Given the description of an element on the screen output the (x, y) to click on. 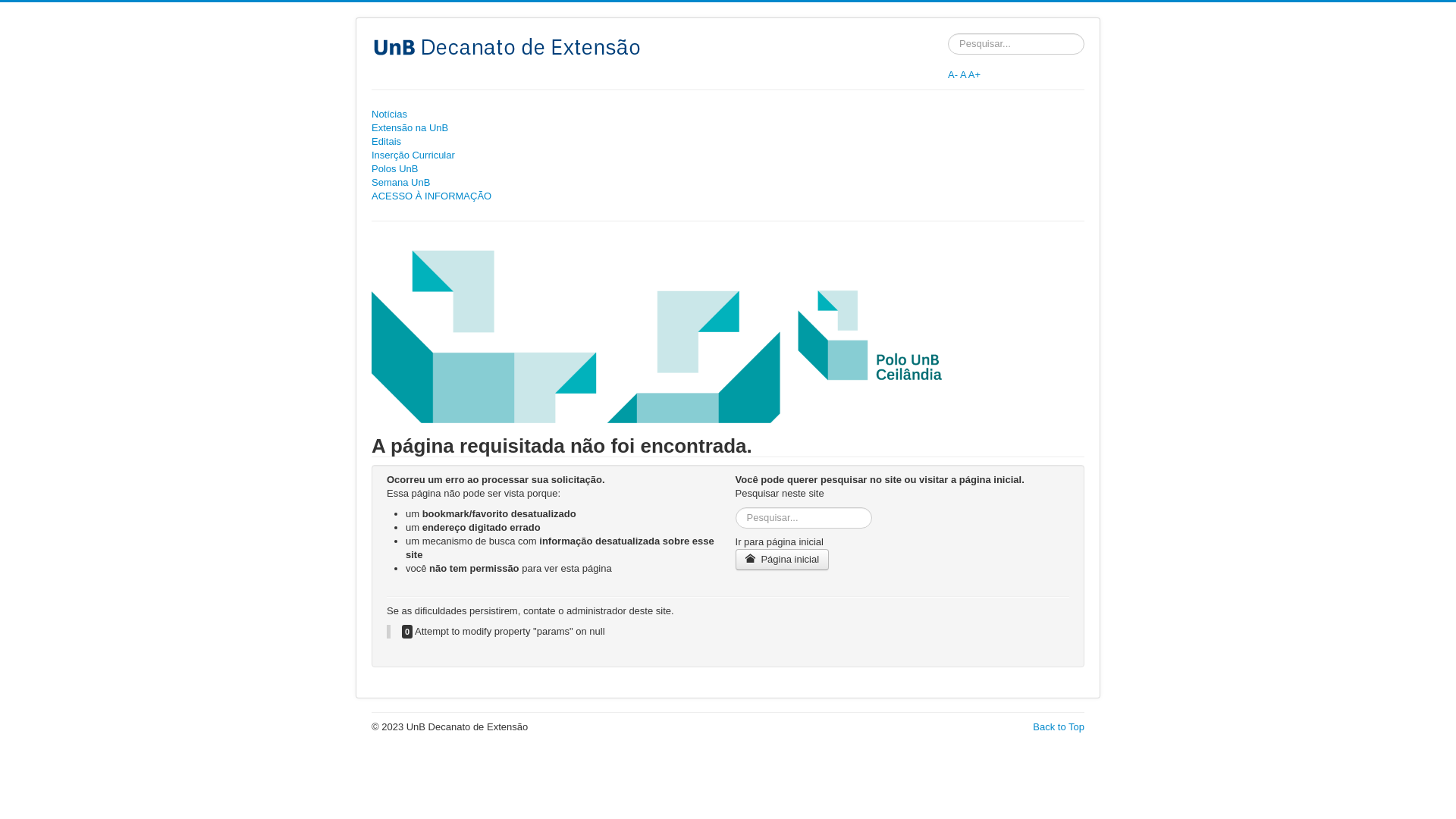
Polos UnB Element type: text (727, 168)
A+ Element type: text (974, 74)
Semana UnB Element type: text (727, 182)
Editais Element type: text (727, 141)
Back to Top Element type: text (1058, 726)
A- Element type: text (952, 74)
A Element type: text (963, 74)
